Given the description of an element on the screen output the (x, y) to click on. 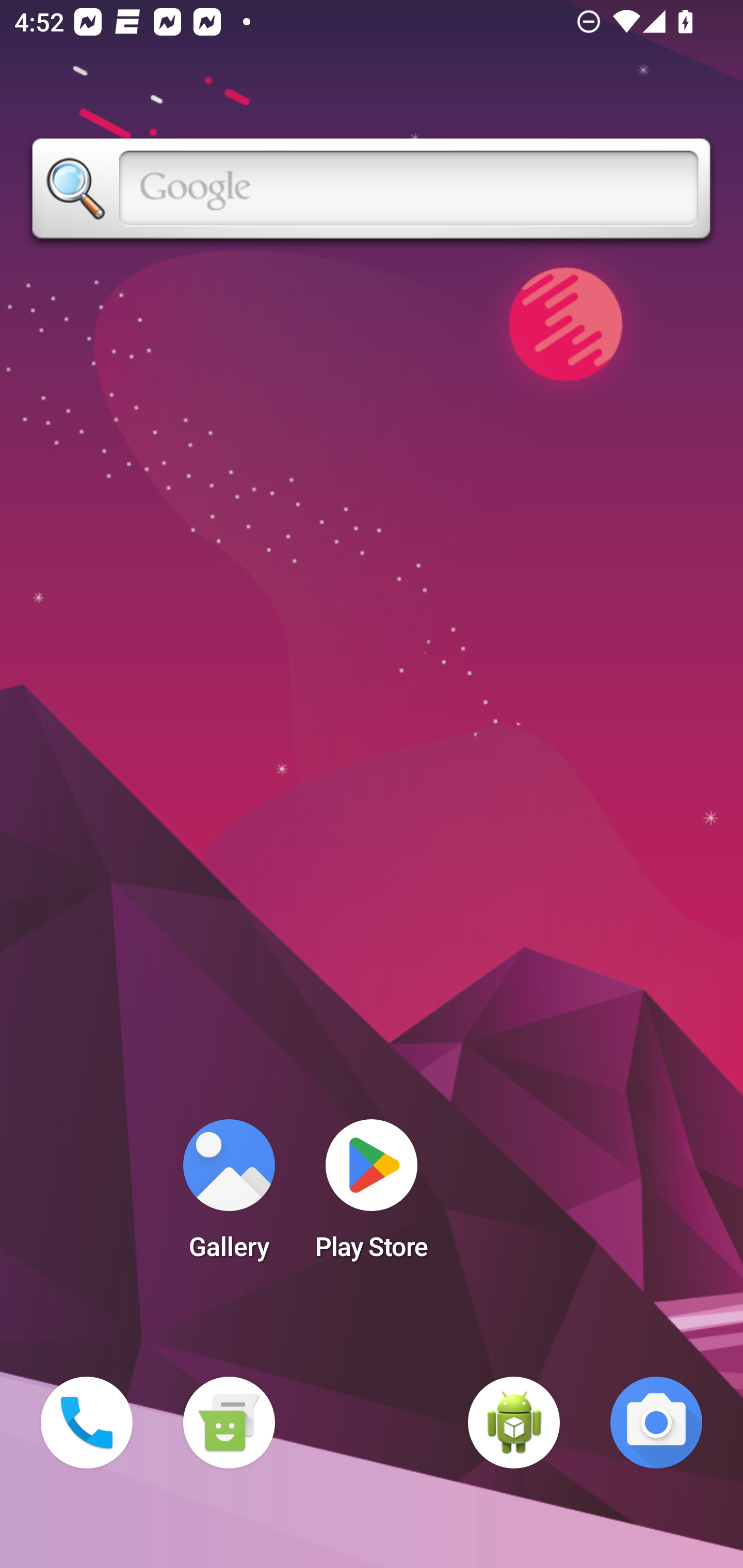
Gallery (228, 1195)
Play Store (371, 1195)
Phone (86, 1422)
Messaging (228, 1422)
WebView Browser Tester (513, 1422)
Camera (656, 1422)
